Given the description of an element on the screen output the (x, y) to click on. 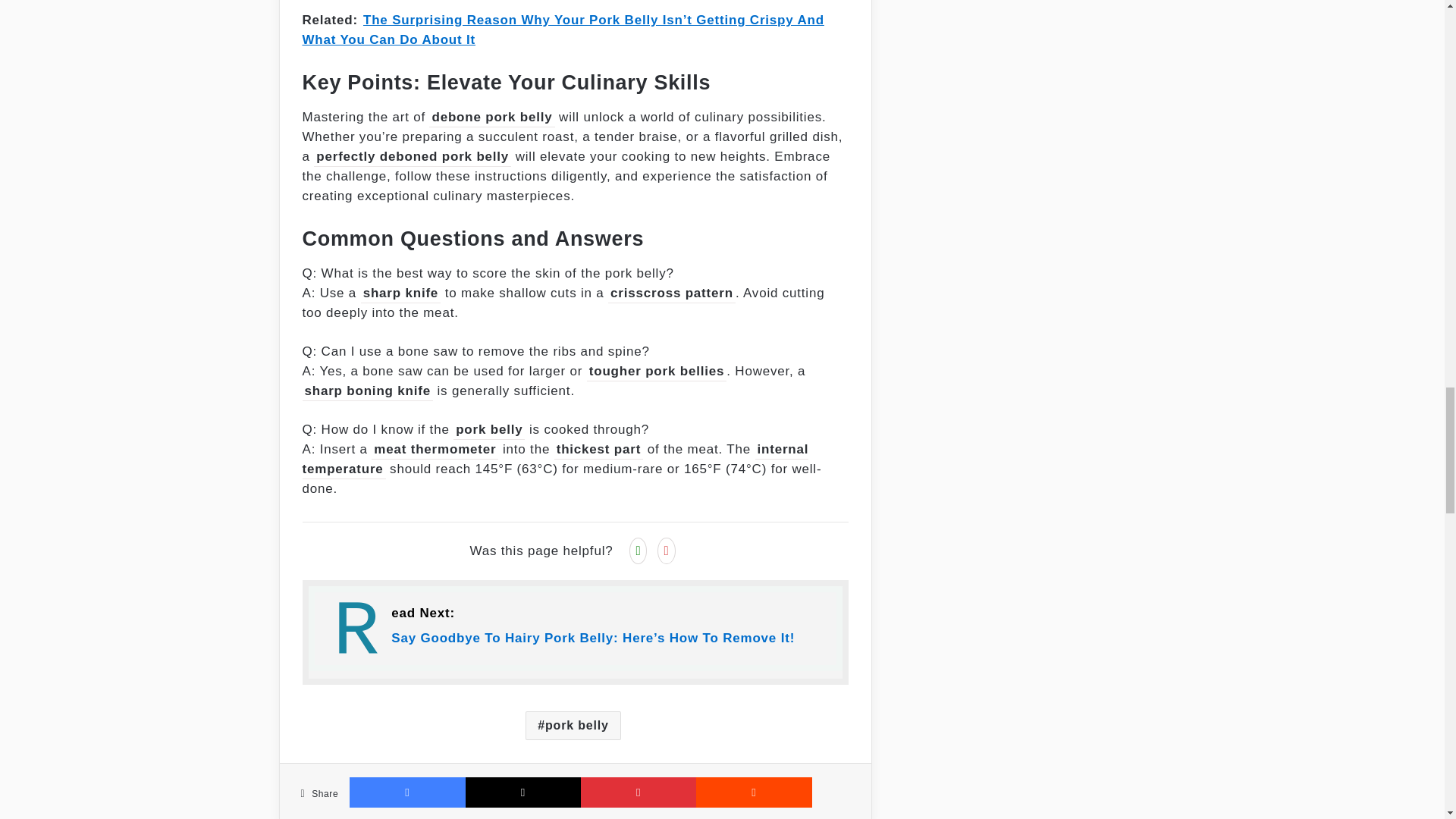
Facebook (406, 792)
Pinterest (637, 792)
Reddit (752, 792)
X (522, 792)
